Given the description of an element on the screen output the (x, y) to click on. 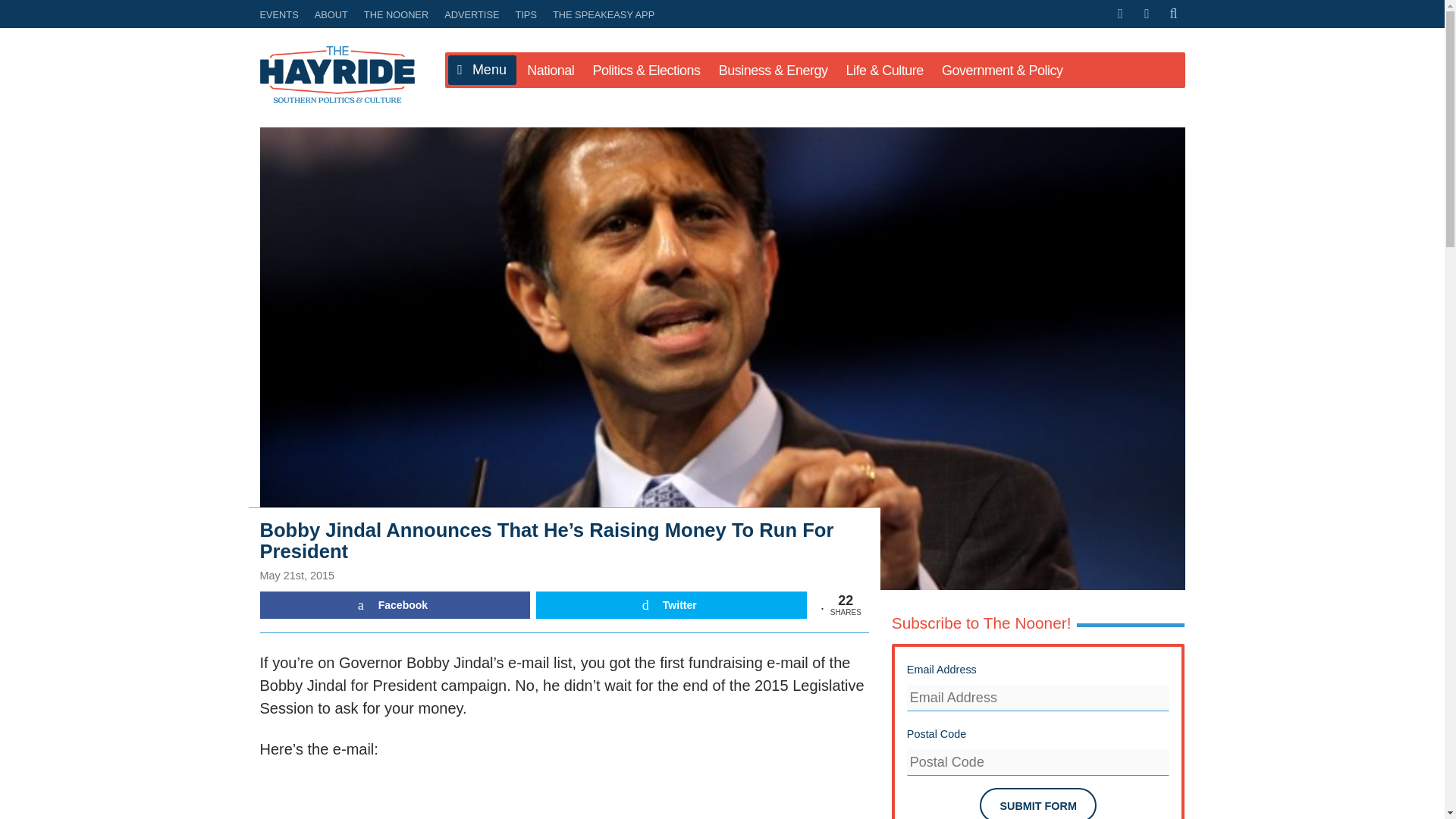
ABOUT (330, 14)
ADVERTISE (471, 14)
THE SPEAKEASY APP (600, 14)
Share on Facebook (394, 605)
THE NOONER (395, 14)
Menu (480, 70)
Share on Twitter (670, 605)
National (549, 70)
EVENTS (281, 14)
Twitter (670, 605)
